Given the description of an element on the screen output the (x, y) to click on. 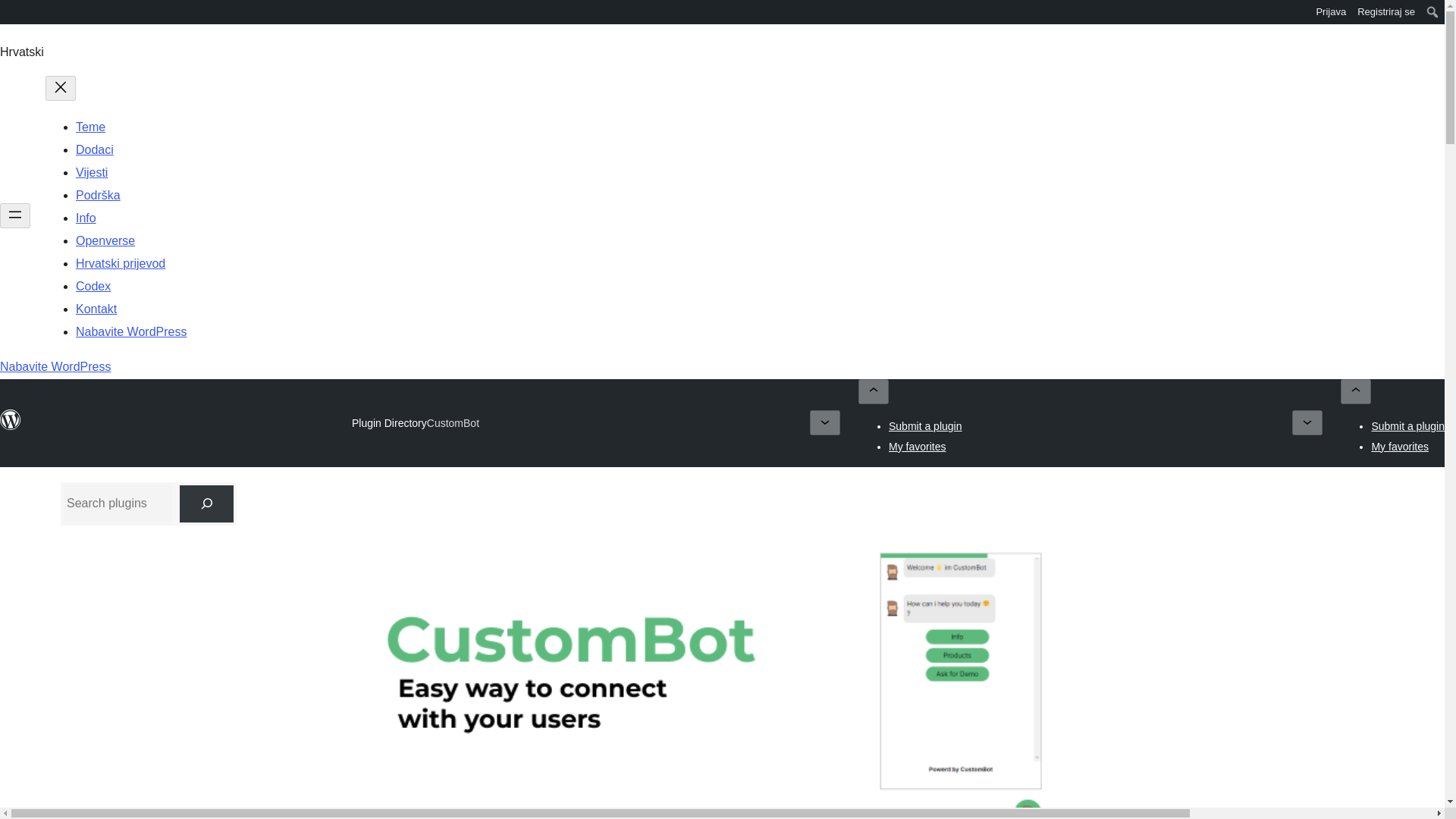
Kontakt (95, 308)
Openverse (105, 240)
Prijava (1331, 12)
Submit a plugin (1407, 426)
Dodaci (94, 149)
My favorites (916, 445)
CustomBot (452, 422)
WordPress.org (10, 419)
WordPress.org (10, 10)
Nabavite WordPress (130, 331)
Hrvatski prijevod (120, 263)
Info (85, 217)
Plugin Directory (389, 422)
Vijesti (91, 172)
WordPress.org (10, 16)
